Given the description of an element on the screen output the (x, y) to click on. 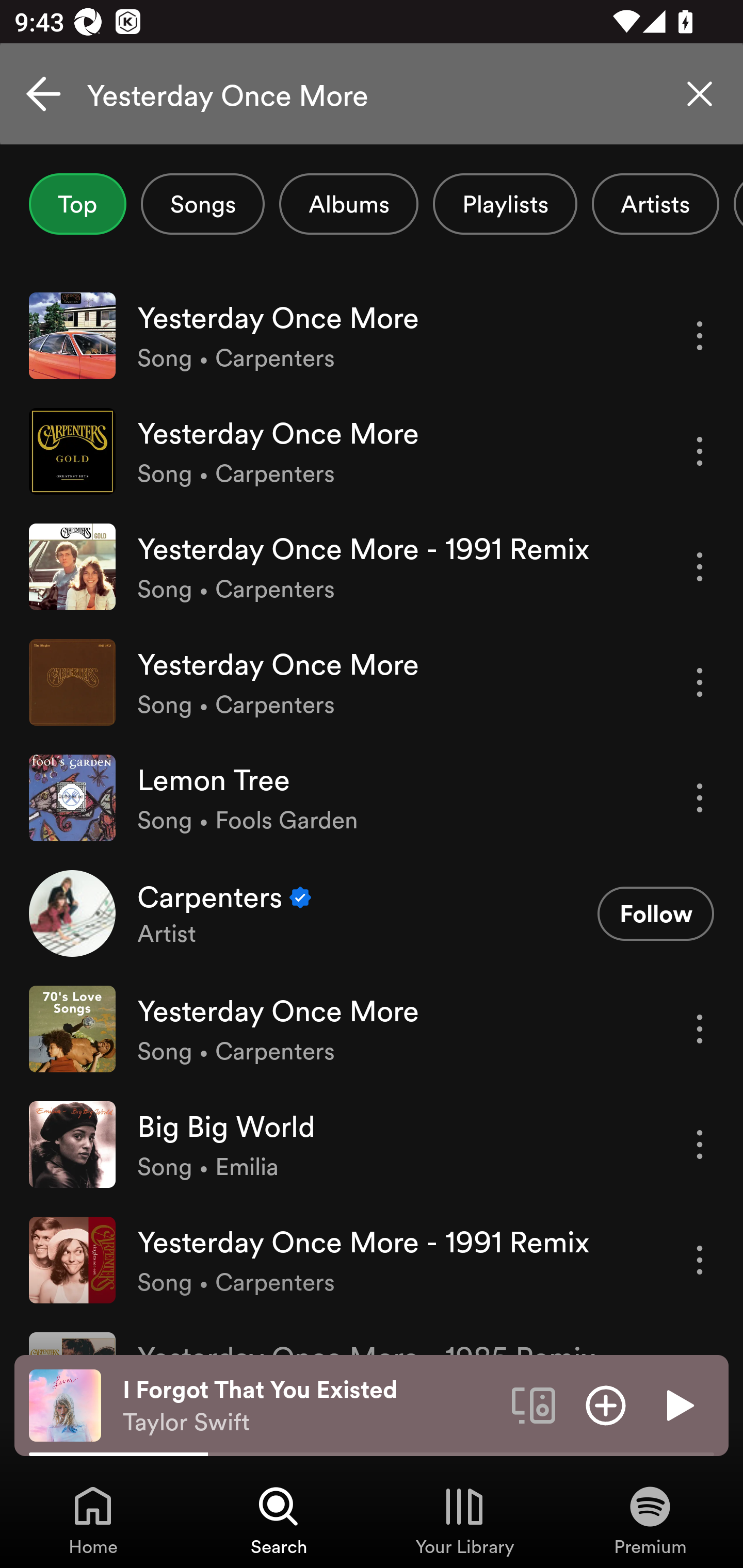
Yesterday Once More (371, 93)
Cancel (43, 93)
Clear search query (699, 93)
Top (77, 203)
Songs (202, 203)
Albums (348, 203)
Playlists (505, 203)
Artists (655, 203)
Podcasts & Shows (738, 203)
More options for song Yesterday Once More (699, 336)
More options for song Yesterday Once More (699, 450)
More options for song Yesterday Once More (699, 682)
More options for song Lemon Tree (699, 798)
Carpenters Verified Artist Follow Follow (371, 913)
Follow (655, 912)
More options for song Yesterday Once More (699, 1029)
More options for song Big Big World (699, 1144)
I Forgot That You Existed Taylor Swift (309, 1405)
The cover art of the currently playing track (64, 1404)
Connect to a device. Opens the devices menu (533, 1404)
Add item (605, 1404)
Play (677, 1404)
Home, Tab 1 of 4 Home Home (92, 1519)
Search, Tab 2 of 4 Search Search (278, 1519)
Your Library, Tab 3 of 4 Your Library Your Library (464, 1519)
Premium, Tab 4 of 4 Premium Premium (650, 1519)
